Given the description of an element on the screen output the (x, y) to click on. 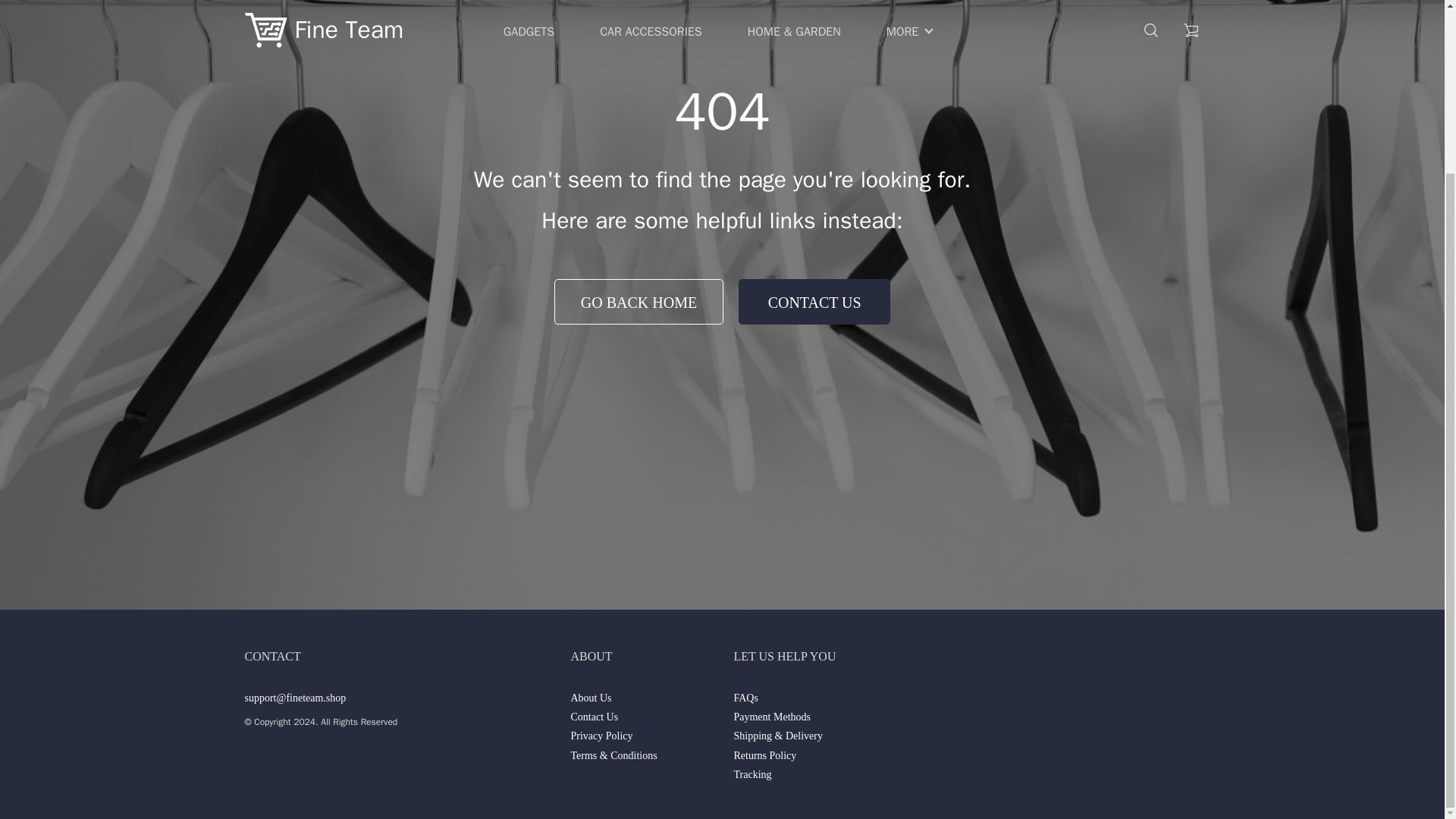
FAQs (745, 698)
Returns Policy (764, 756)
Contact Us (593, 717)
About Us (590, 698)
Payment Methods (771, 717)
Tracking (752, 775)
CONTACT US (813, 301)
GO BACK HOME (638, 301)
Privacy Policy (600, 736)
